Given the description of an element on the screen output the (x, y) to click on. 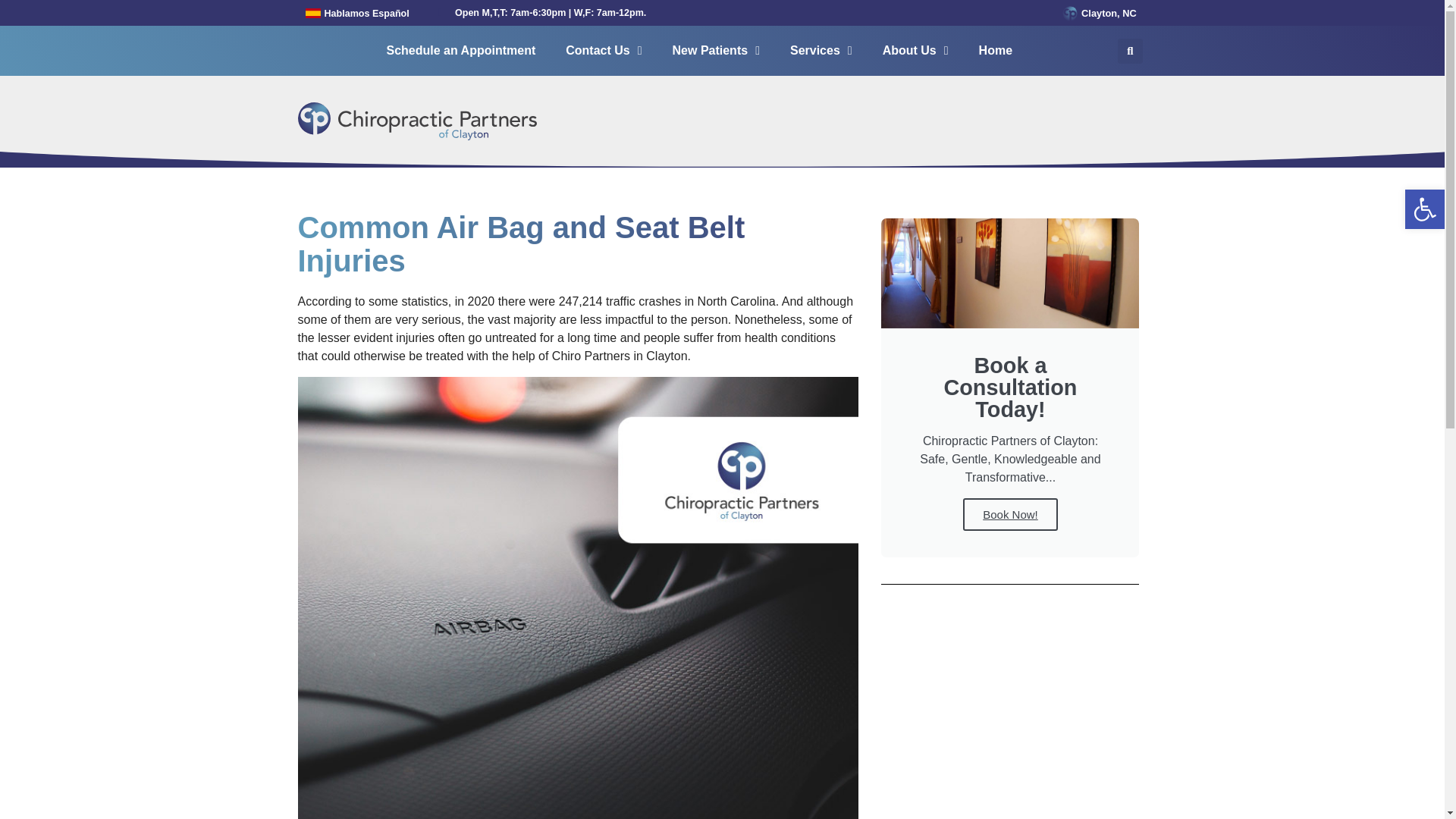
Contact Us (603, 50)
Services (820, 50)
New Patients (716, 50)
About Us (915, 50)
Schedule an Appointment (460, 50)
Accessibility Tools (1424, 209)
